Given the description of an element on the screen output the (x, y) to click on. 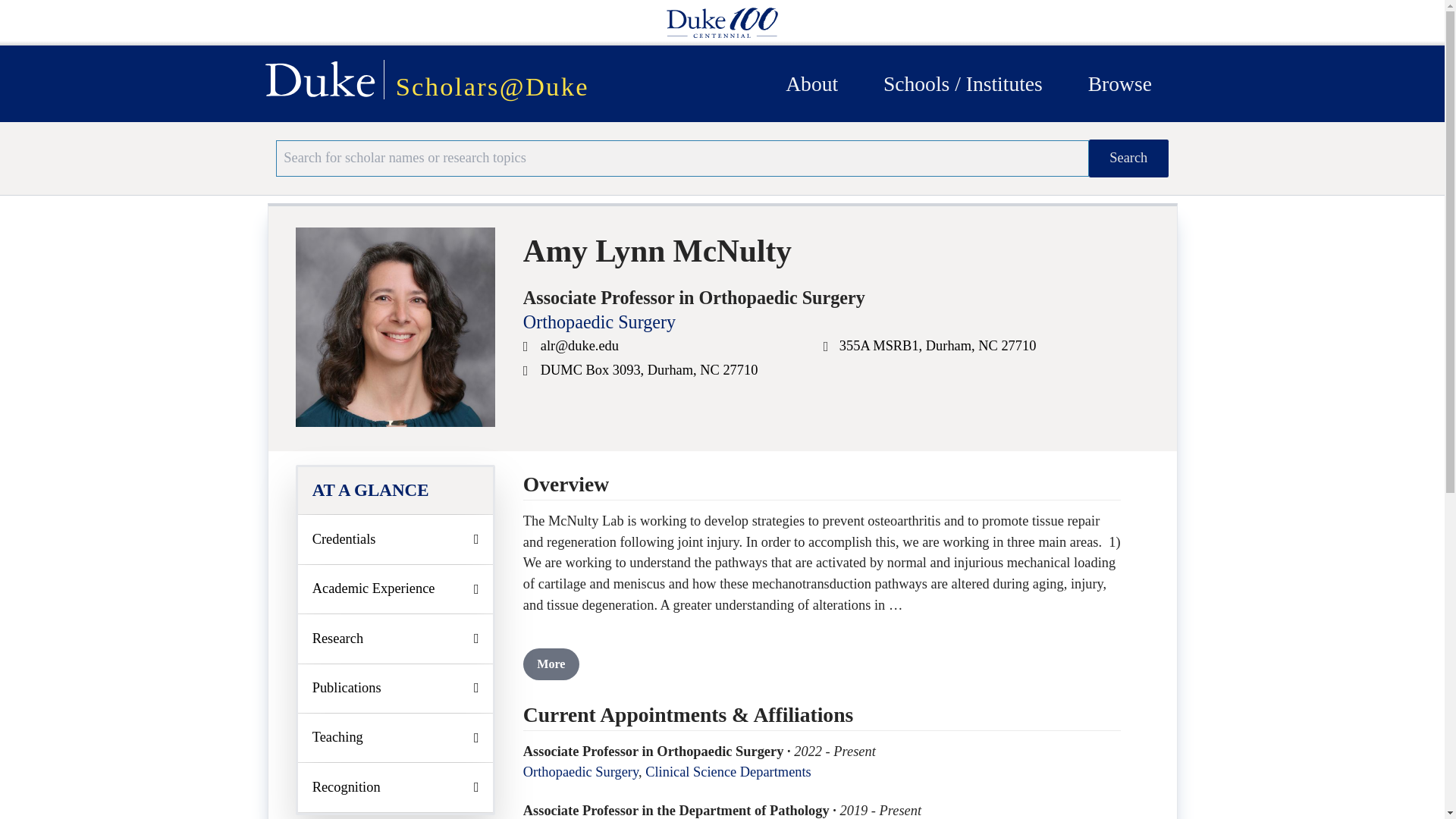
Credentials (395, 539)
Orthopaedic Surgery (598, 322)
Browse (1119, 83)
Academic Experience (395, 589)
Physical Address (827, 348)
Mailing Address (528, 372)
Search (1129, 158)
Search (1129, 158)
About (812, 83)
Email Address (528, 348)
AT A GLANCE (395, 490)
Search (1129, 158)
Research (395, 638)
Recognition (395, 786)
